Given the description of an element on the screen output the (x, y) to click on. 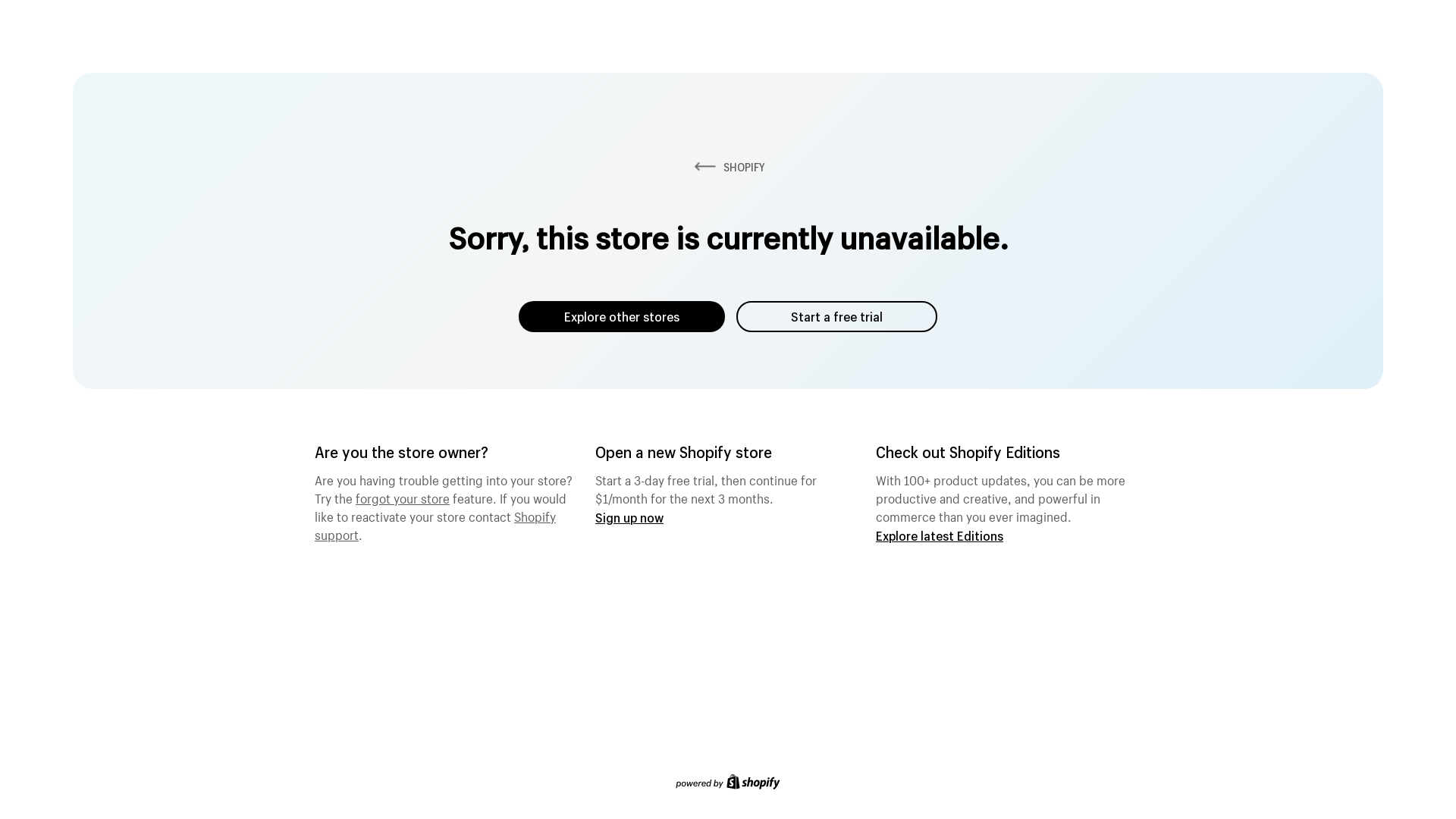
Shopify support Element type: text (434, 523)
Start a free trial Element type: text (836, 316)
Explore other stores Element type: text (621, 316)
Explore latest Editions Element type: text (939, 535)
forgot your store Element type: text (402, 496)
SHOPIFY Element type: text (727, 167)
Sign up now Element type: text (629, 517)
